Given the description of an element on the screen output the (x, y) to click on. 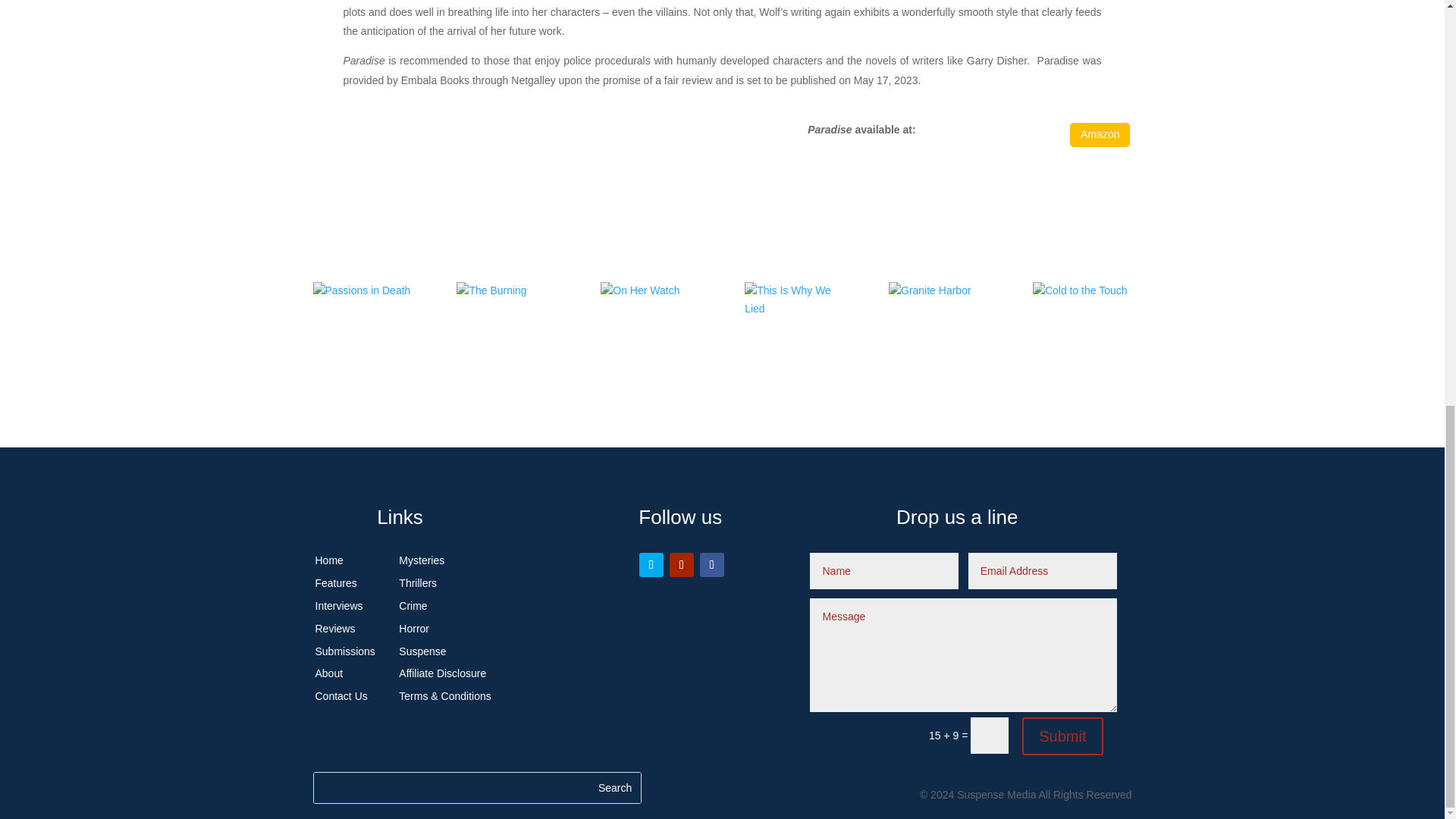
Amazon (1099, 134)
Follow on Twitter (651, 564)
Interviews (338, 605)
Mysteries (421, 560)
Follow on Youtube (681, 564)
Search (614, 788)
Search (614, 788)
Follow on Facebook (711, 564)
Home (329, 560)
Thrillers (417, 582)
